Given the description of an element on the screen output the (x, y) to click on. 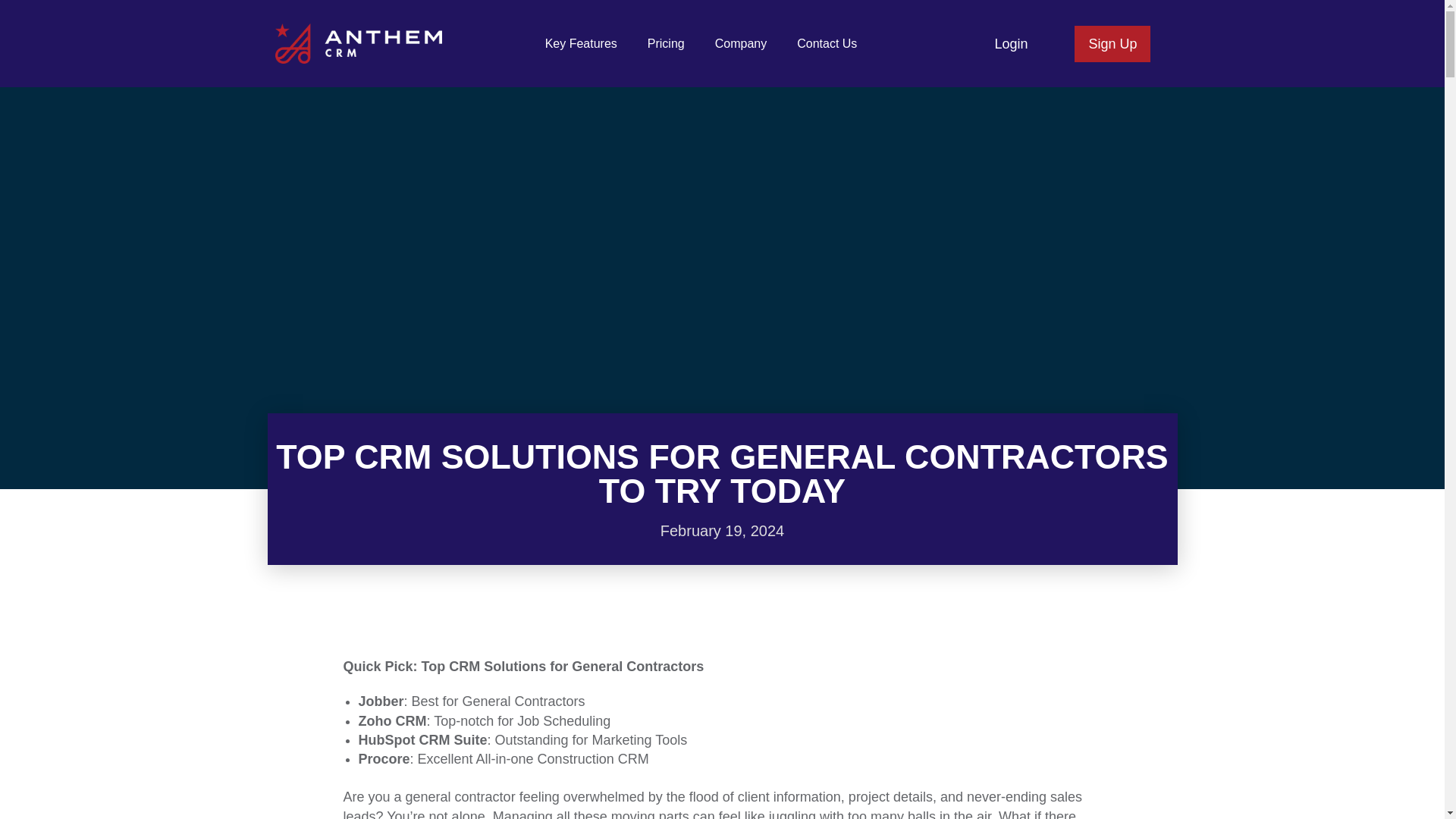
Sign Up (1112, 43)
Key Features (580, 43)
Contact Us (826, 43)
Company (740, 43)
February 19, 2024 (722, 530)
Pricing (665, 43)
Login (1010, 42)
